Given the description of an element on the screen output the (x, y) to click on. 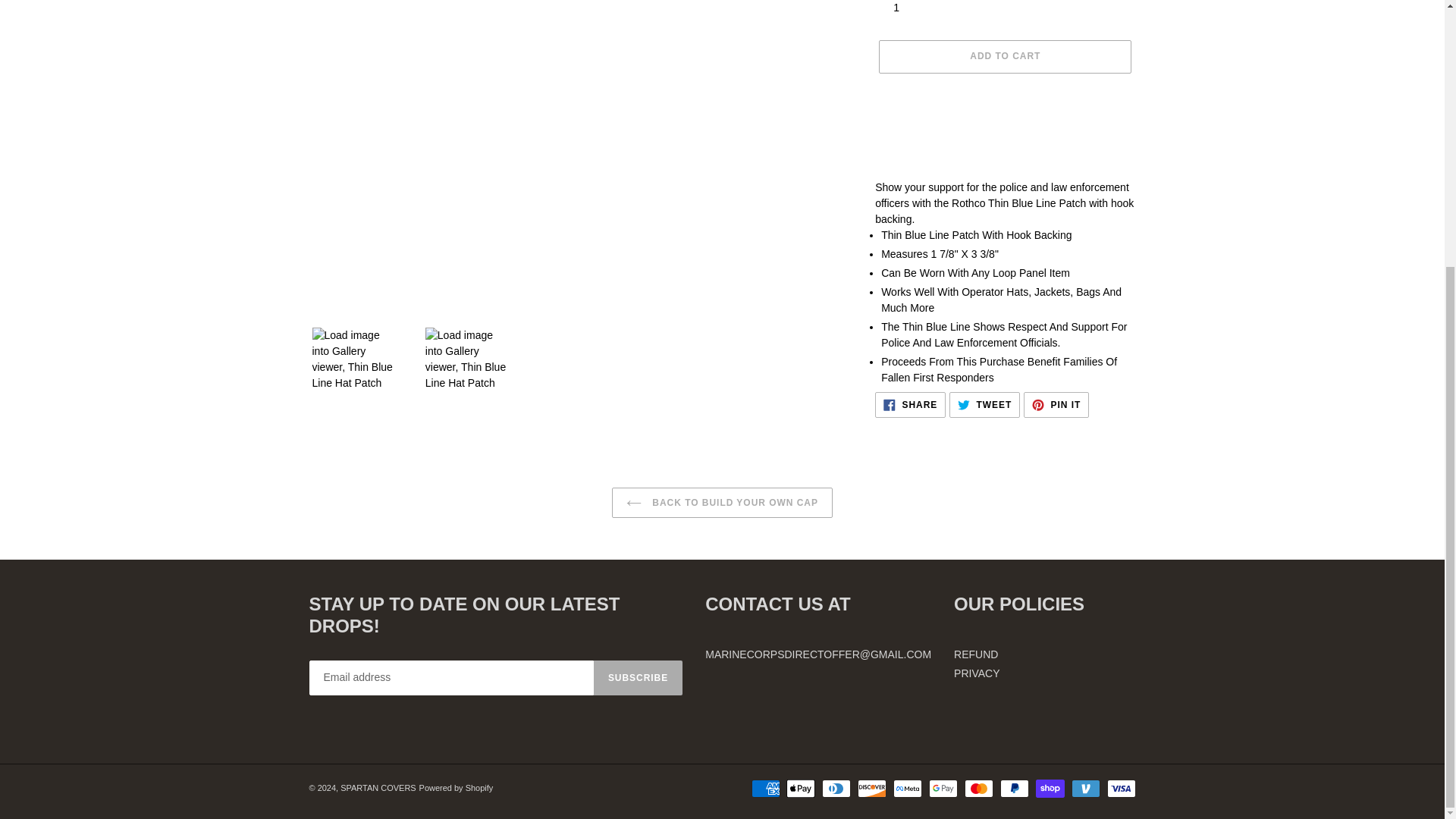
Refund Policy (975, 654)
PRIVACY (975, 673)
ADD TO CART (1005, 56)
Powered by Shopify (456, 787)
SUBSCRIBE (638, 677)
REFUND (975, 654)
SPARTAN COVERS (1056, 404)
Privacy Policy (984, 404)
1 (909, 404)
BACK TO BUILD YOUR OWN CAP (378, 787)
